Given the description of an element on the screen output the (x, y) to click on. 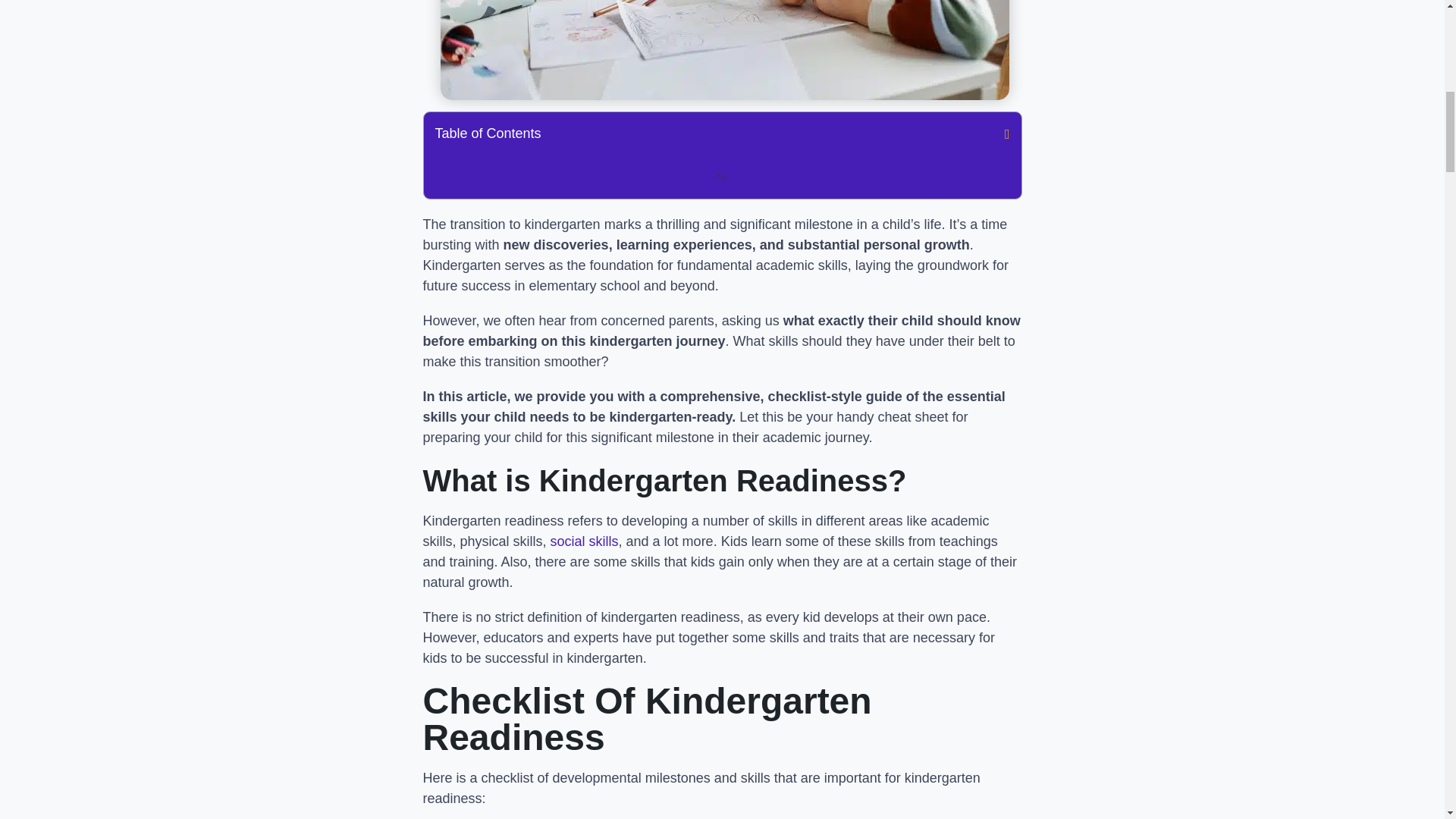
social skills (584, 540)
social skills (584, 540)
